Given the description of an element on the screen output the (x, y) to click on. 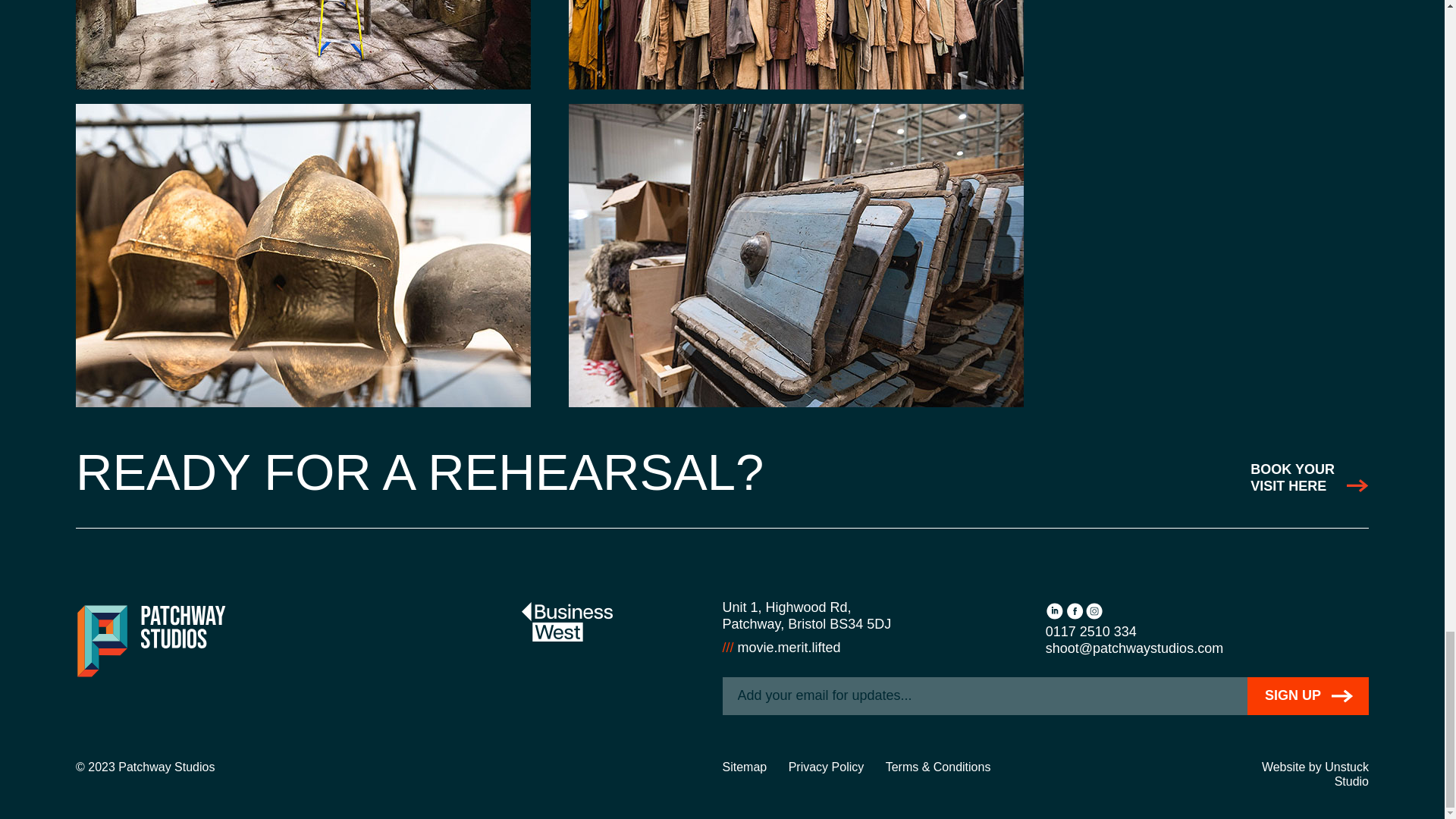
Privacy Policy (826, 766)
Patchway Studios (151, 640)
Sitemap (744, 766)
0117 2510 334 (1091, 631)
sign up (1307, 695)
Website by Unstuck Studio (1309, 477)
sign up (1315, 773)
